Given the description of an element on the screen output the (x, y) to click on. 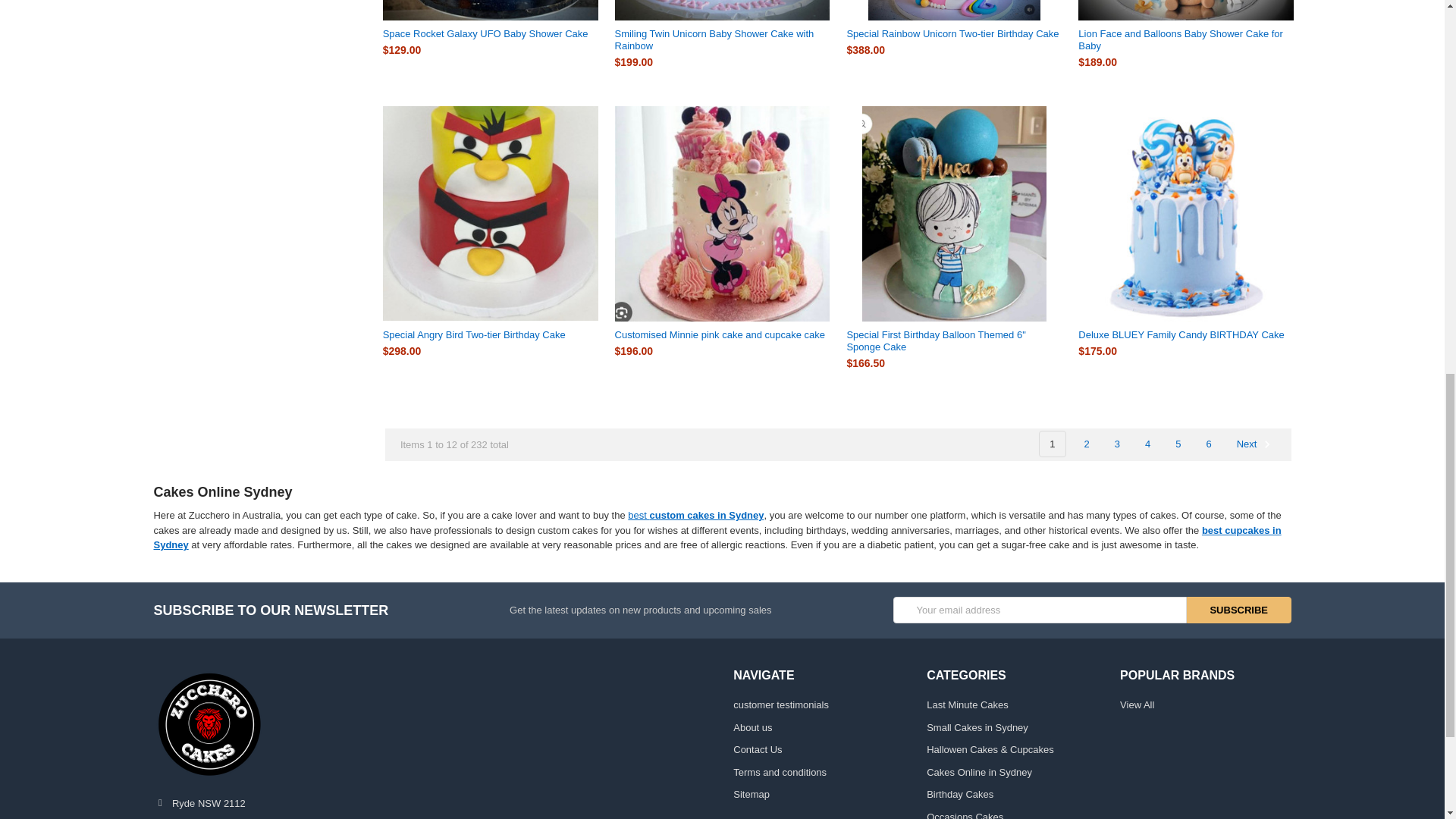
Astronaut toy figure Not Included  (490, 10)
Subscribe (1238, 610)
